Given the description of an element on the screen output the (x, y) to click on. 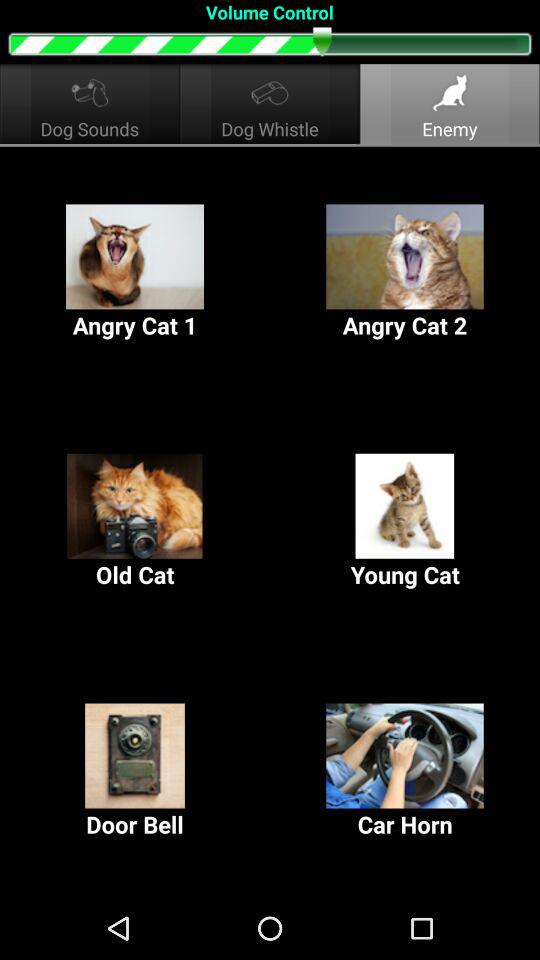
open old cat icon (135, 521)
